Given the description of an element on the screen output the (x, y) to click on. 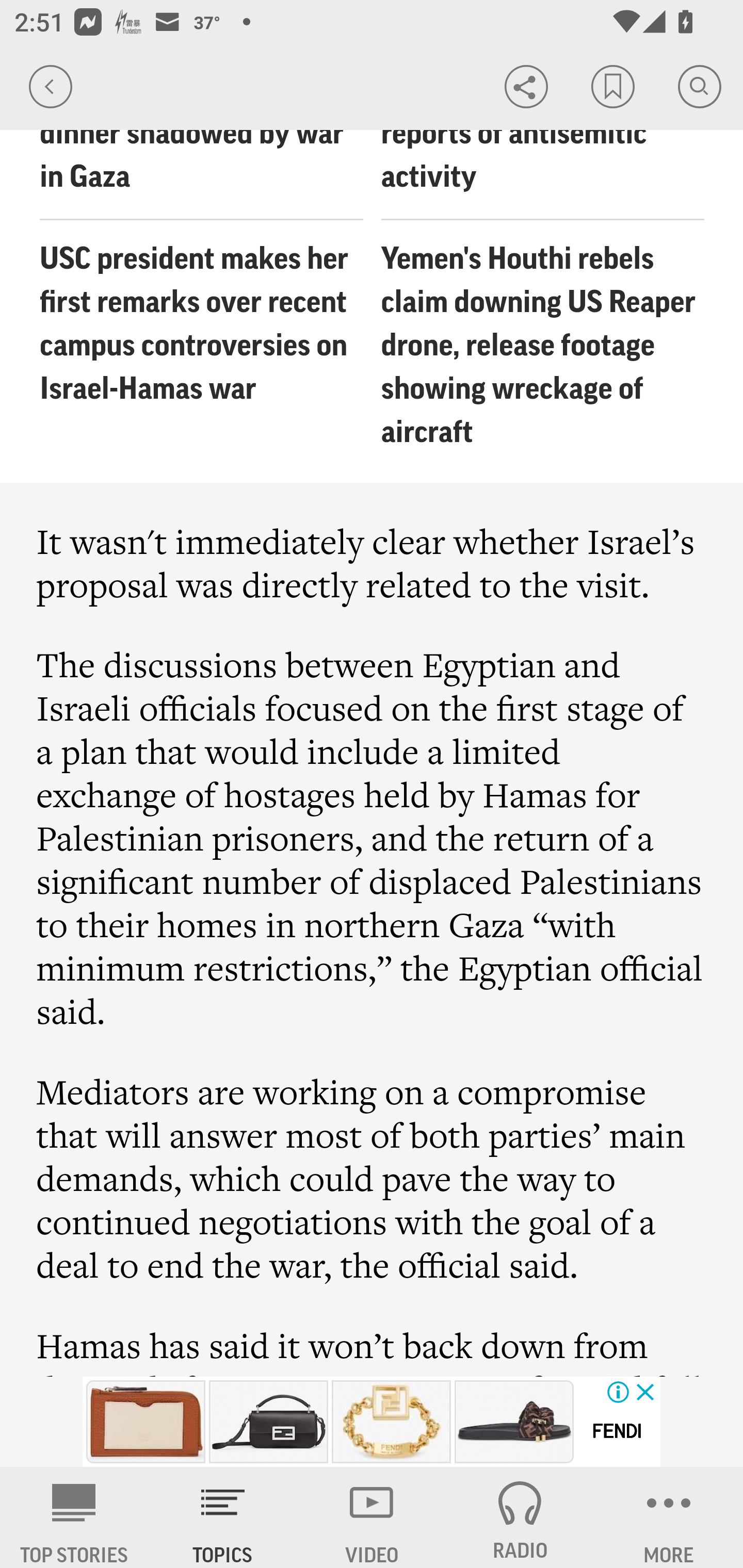
fendi-feel-brown-satin-slides-8x8142ae7sf0r7v (513, 1420)
AP News TOP STORIES (74, 1517)
TOPICS (222, 1517)
VIDEO (371, 1517)
RADIO (519, 1517)
MORE (668, 1517)
